Given the description of an element on the screen output the (x, y) to click on. 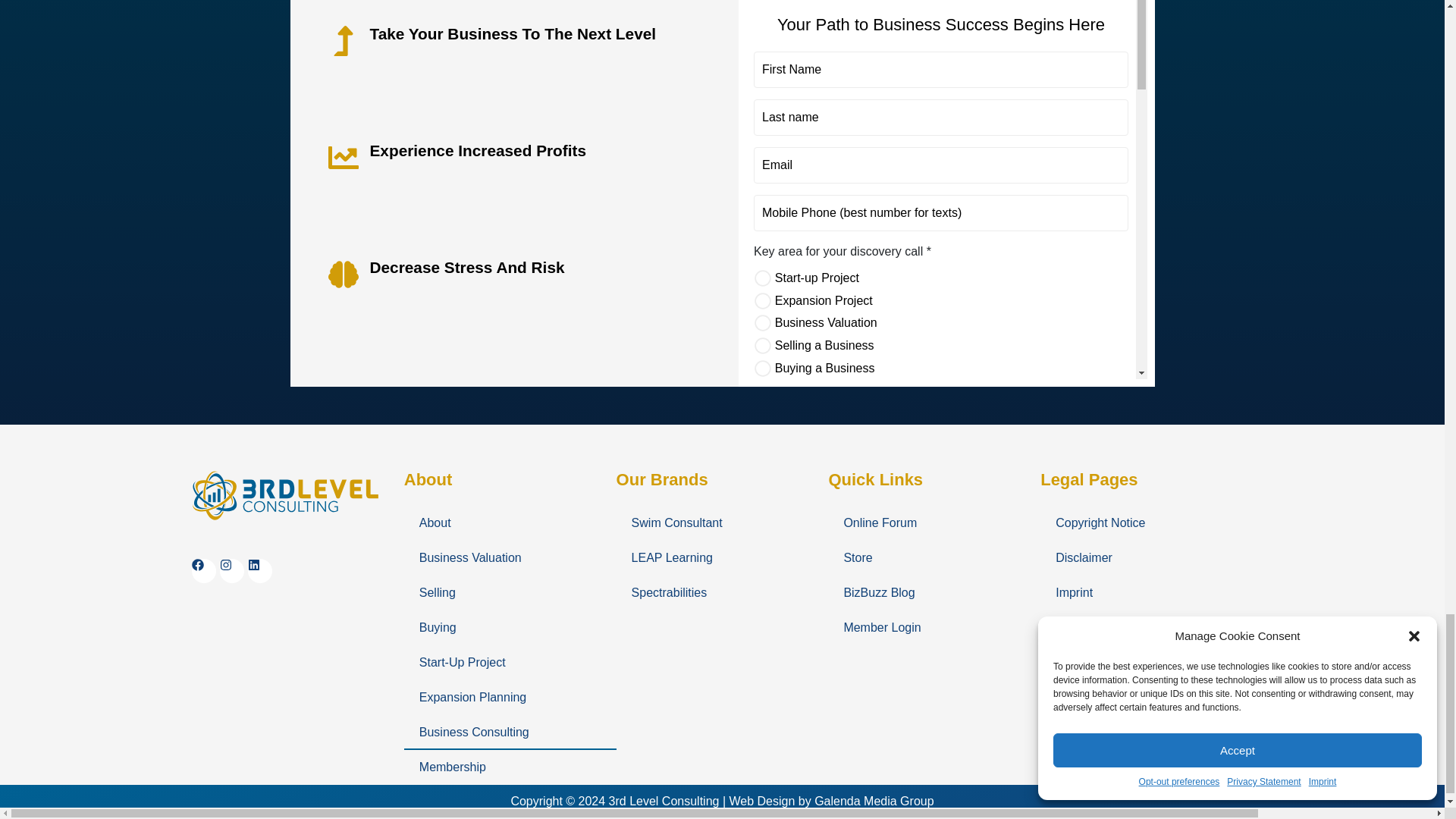
3rd Level Consulting - 3rd Level Consulting (285, 495)
